Given the description of an element on the screen output the (x, y) to click on. 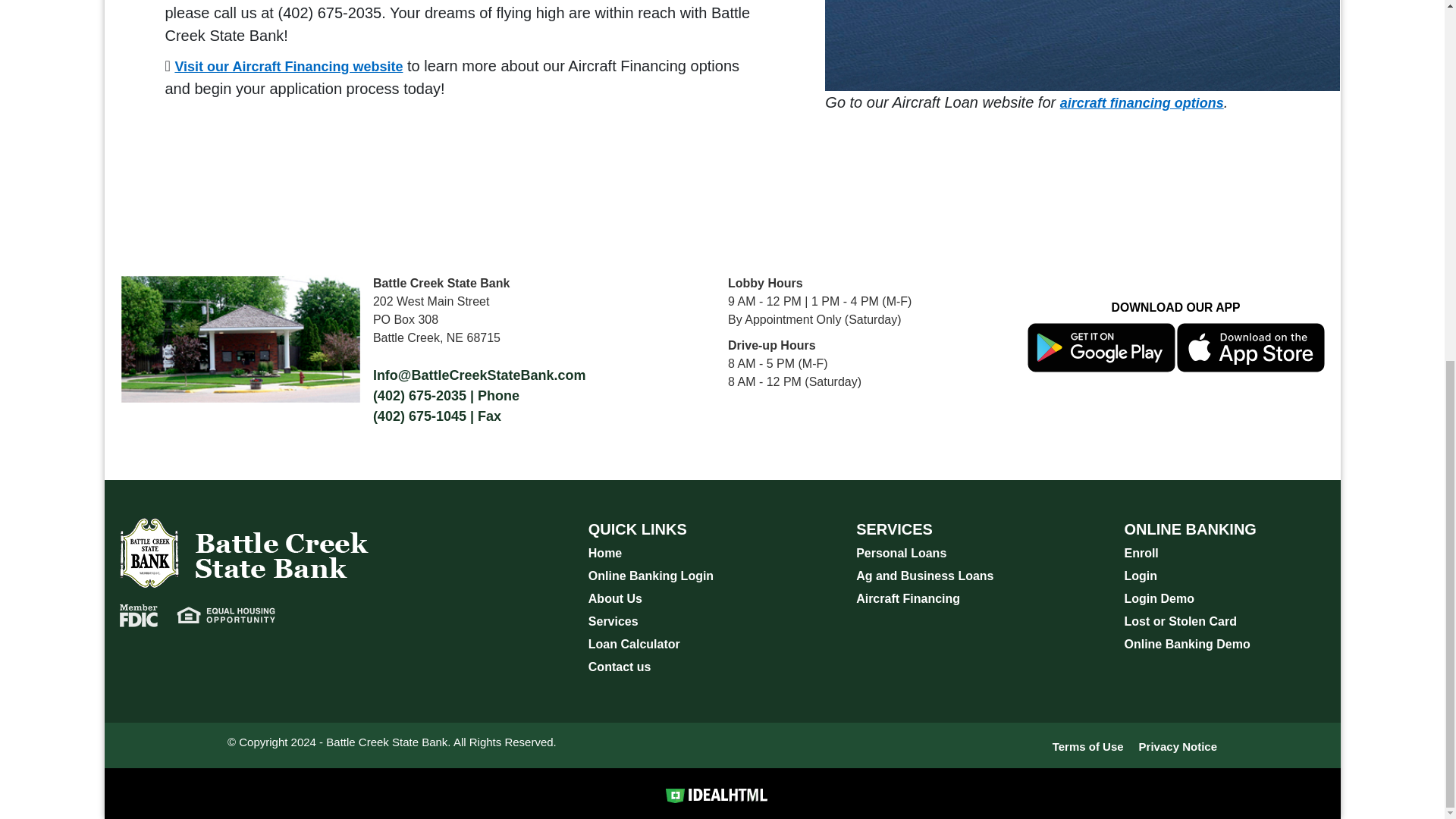
Call Battle Creek State Bank (445, 395)
Download our Google App (1101, 347)
Personal Loans (901, 553)
Aircraft Financing (907, 598)
Aircraft Loans by Battle Creek State Bank (1141, 102)
Download Apple Iphone App (1250, 347)
Services (613, 621)
Email Battle Creek State Bank (479, 375)
Aircraft Loans by Battle Creek State Bank (288, 66)
Enroll (1140, 553)
